Given the description of an element on the screen output the (x, y) to click on. 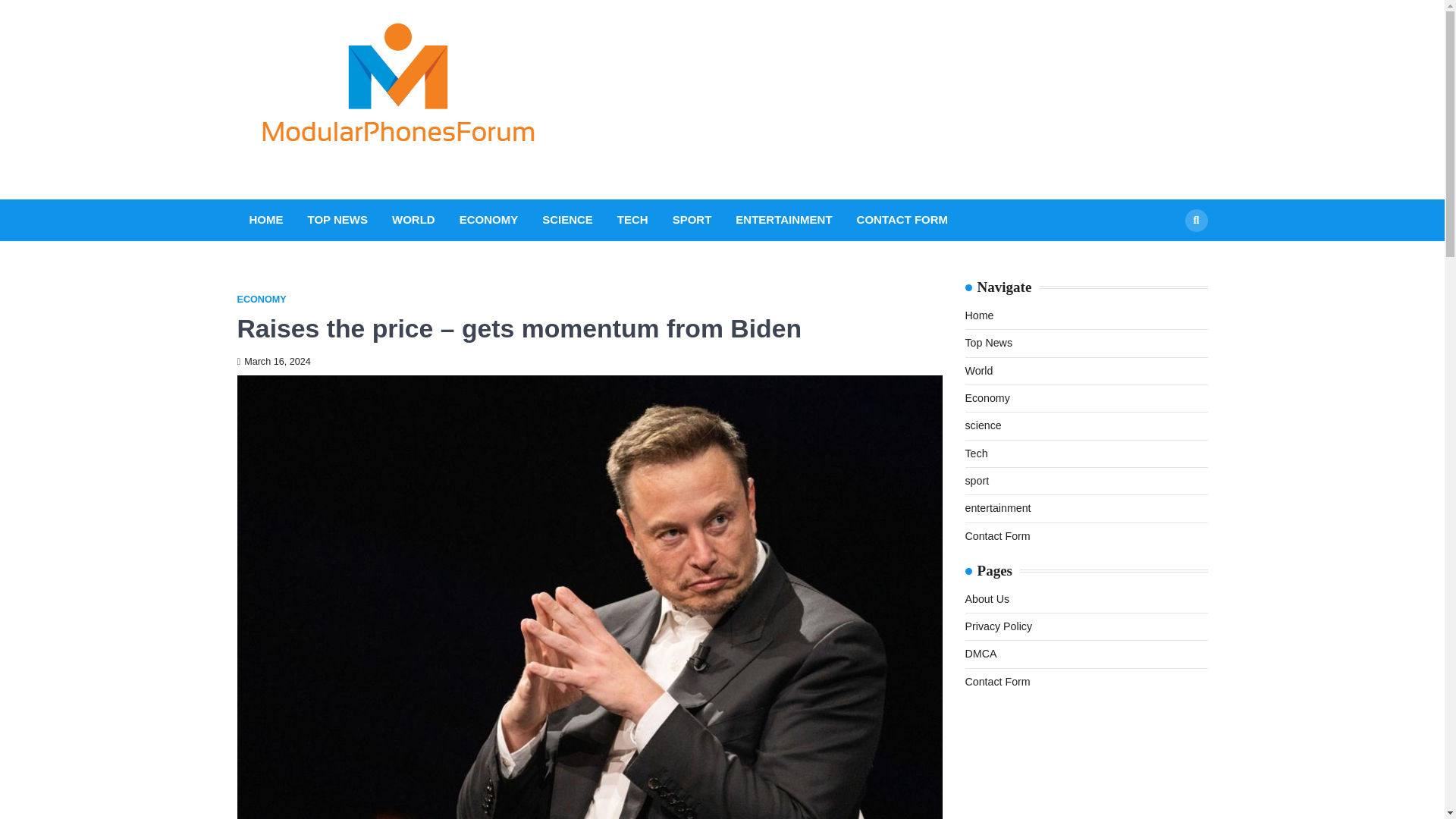
About Us (986, 598)
Tech (975, 453)
SCIENCE (566, 220)
World (977, 370)
Home (977, 315)
ECONOMY (488, 220)
ENTERTAINMENT (783, 220)
Contact Form (996, 535)
CONTACT FORM (902, 220)
TOP NEWS (337, 220)
TECH (632, 220)
Search (1196, 220)
SPORT (691, 220)
entertainment (996, 508)
sport (975, 480)
